Given the description of an element on the screen output the (x, y) to click on. 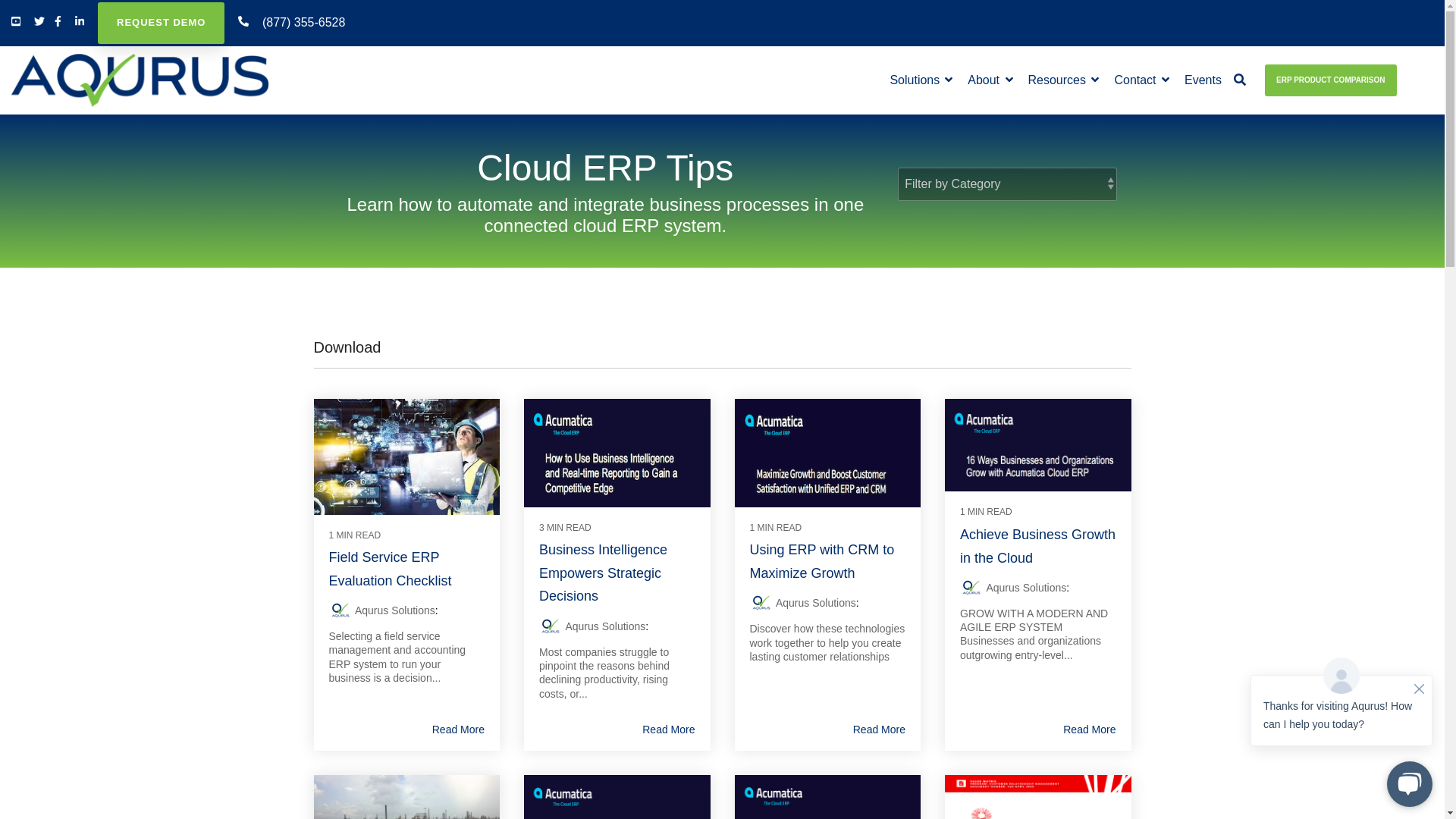
REQUEST DEMO Element type: text (160, 22)
Read More Element type: text (879, 729)
Aqurus logo Element type: hover (139, 79)
Using ERP with CRM to Maximize Growth Element type: text (821, 561)
Toggle Menu Element type: text (1420, 74)
Solutions Element type: text (920, 80)
Contact Element type: text (1141, 80)
Read More Element type: text (668, 729)
Events Element type: text (1202, 80)
Achieve Business Growth in the Cloud Element type: text (1037, 546)
Skip to the main content. Element type: text (0, 0)
Aqurus Solutions Element type: text (604, 626)
About Element type: text (989, 80)
Read More Element type: text (458, 729)
Aqurus Solutions Element type: text (394, 610)
Read More Element type: text (1089, 729)
ERP PRODUCT COMPARISON Element type: text (1330, 80)
Field Service ERP Evaluation Checklist Element type: text (390, 568)
Aqurus Solutions Element type: text (815, 602)
Business Intelligence Empowers Strategic Decisions Element type: text (603, 572)
Aqurus Solutions Element type: text (1025, 587)
Resources Element type: text (1063, 80)
